Given the description of an element on the screen output the (x, y) to click on. 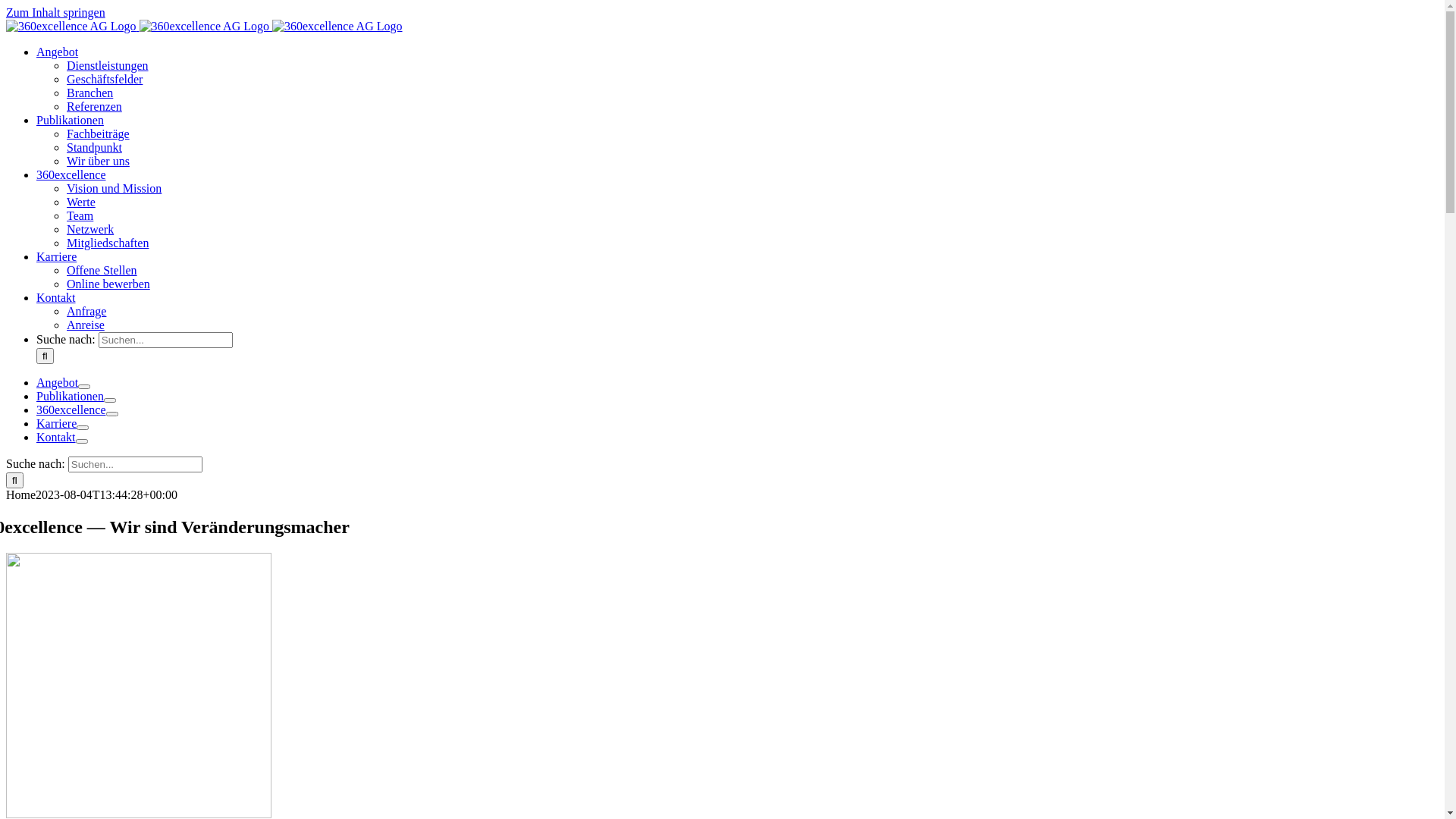
360excellence Element type: text (71, 174)
Team Element type: text (79, 215)
Zum Inhalt springen Element type: text (55, 12)
360excellence Element type: text (71, 409)
